Given the description of an element on the screen output the (x, y) to click on. 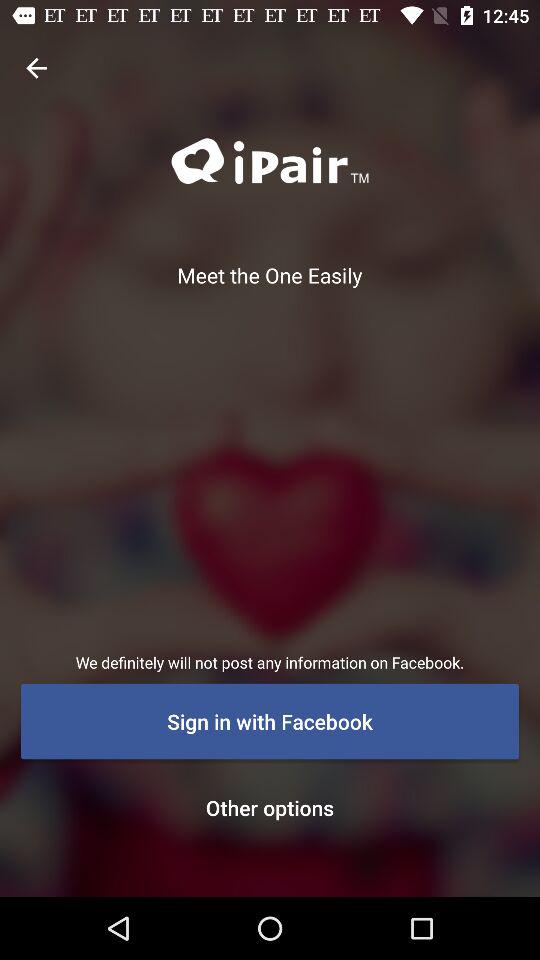
flip to other options icon (270, 807)
